Given the description of an element on the screen output the (x, y) to click on. 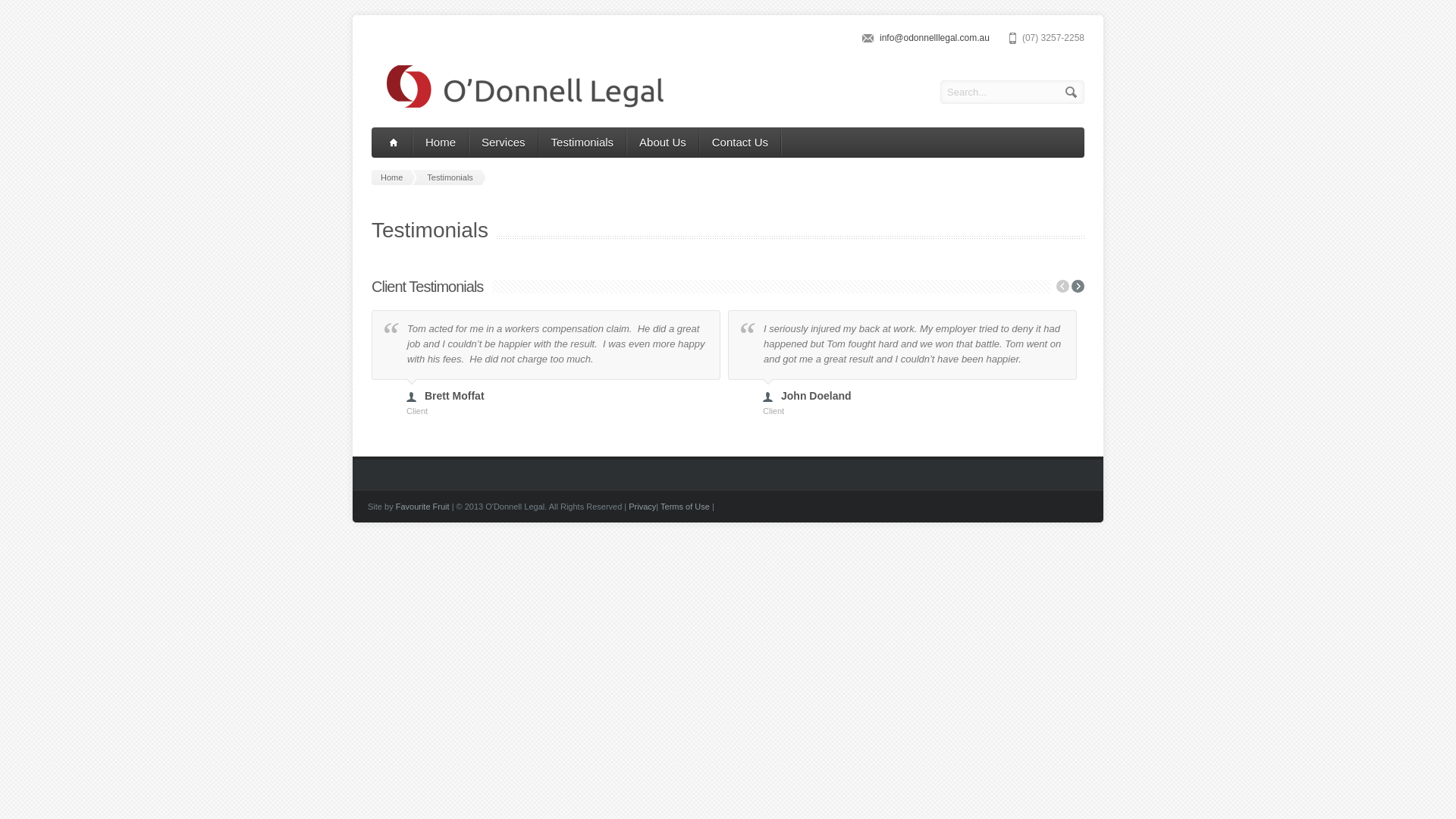
Home Element type: text (440, 142)
About Us Element type: text (662, 142)
Terms of Use Element type: text (684, 506)
Home Element type: text (394, 177)
Search... Element type: text (1012, 91)
O'Donnell Legal Element type: hover (517, 103)
info@odonnelllegal.com.au Element type: text (934, 37)
Testimonials Element type: text (452, 177)
Contact Us Element type: text (739, 142)
Testimonials Element type: text (582, 142)
Privacy Element type: text (641, 506)
Services Element type: text (503, 142)
Favourite Fruit Element type: text (422, 506)
